Given the description of an element on the screen output the (x, y) to click on. 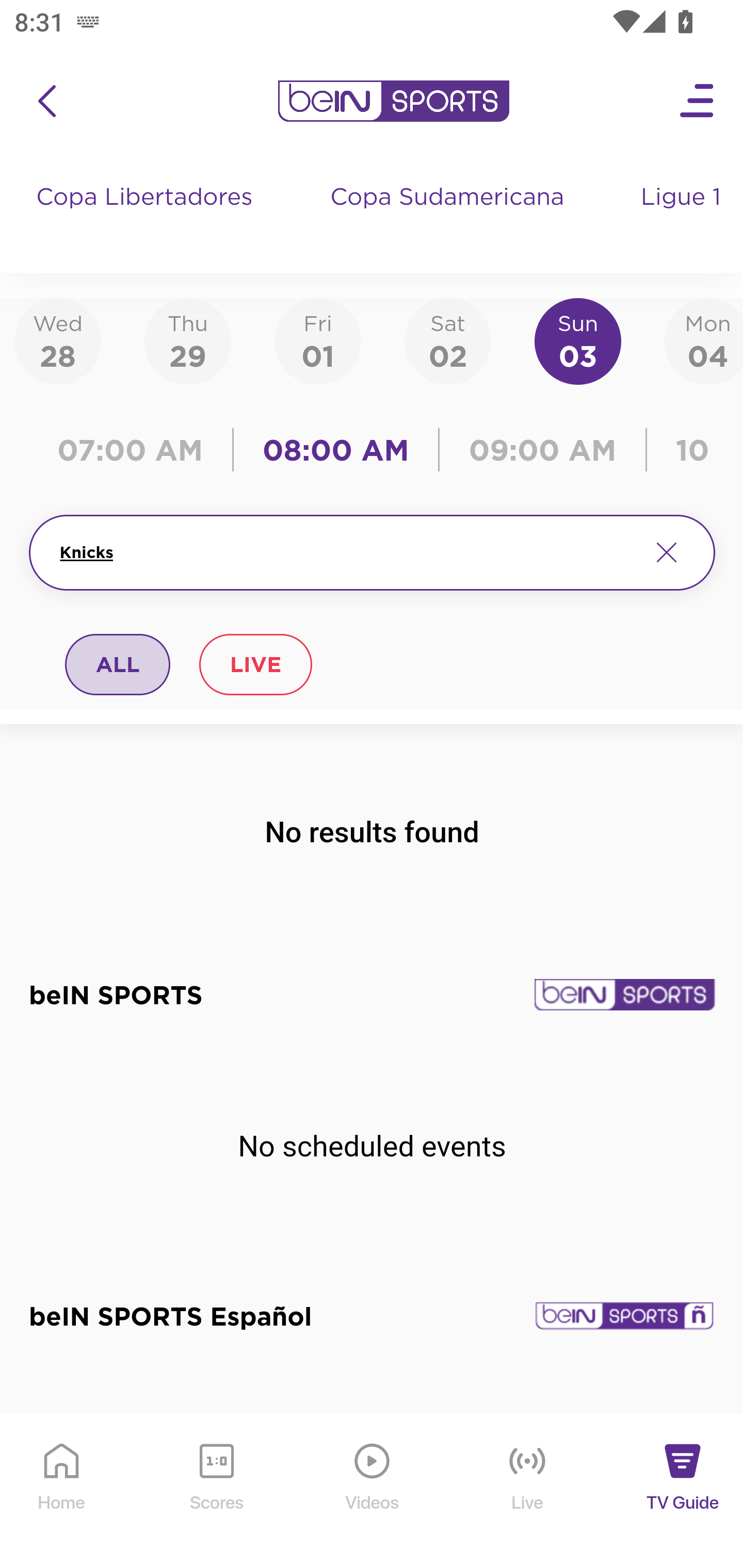
en-us?platform=mobile_android bein logo (392, 101)
icon back (46, 101)
Open Menu Icon (697, 101)
Copa Libertadores (146, 216)
Copa Sudamericana (448, 216)
Ligue 1 (682, 216)
Wed28 (58, 340)
Thu29 (187, 340)
Fri01 (318, 340)
Sat02 (447, 340)
Sun03 (578, 340)
Mon04 (703, 340)
07:00 AM (135, 449)
08:00 AM (336, 449)
09:00 AM (542, 449)
Knicks (346, 552)
ALL (118, 663)
LIVE (255, 663)
Home Home Icon Home (61, 1491)
Scores Scores Icon Scores (216, 1491)
Videos Videos Icon Videos (372, 1491)
TV Guide TV Guide Icon TV Guide (682, 1491)
